Given the description of an element on the screen output the (x, y) to click on. 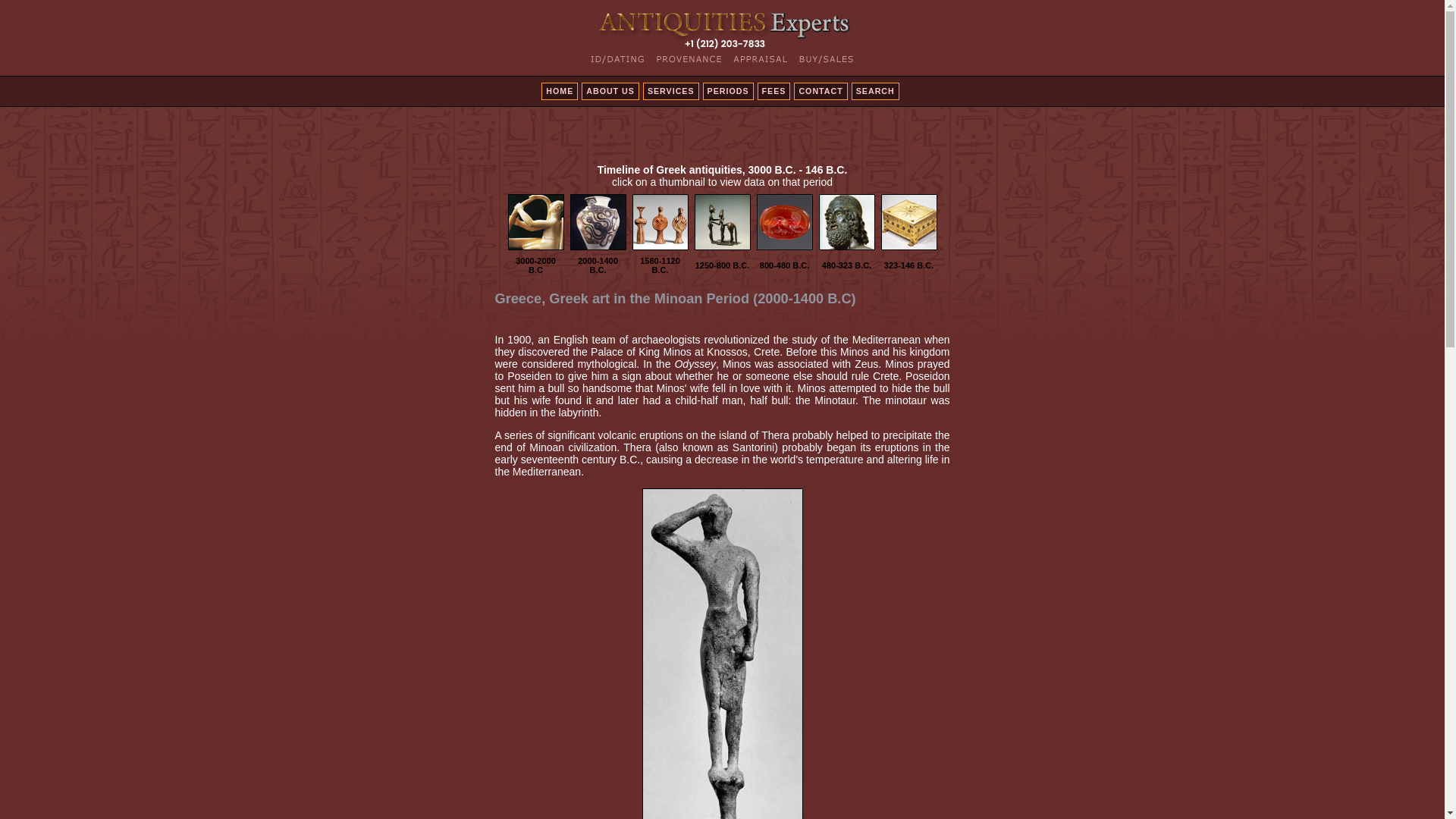
FEES (773, 90)
CONTACT (820, 90)
SEARCH (875, 90)
HOME (559, 90)
ABOUT US (609, 90)
PERIODS (728, 90)
SERVICES (670, 90)
